Given the description of an element on the screen output the (x, y) to click on. 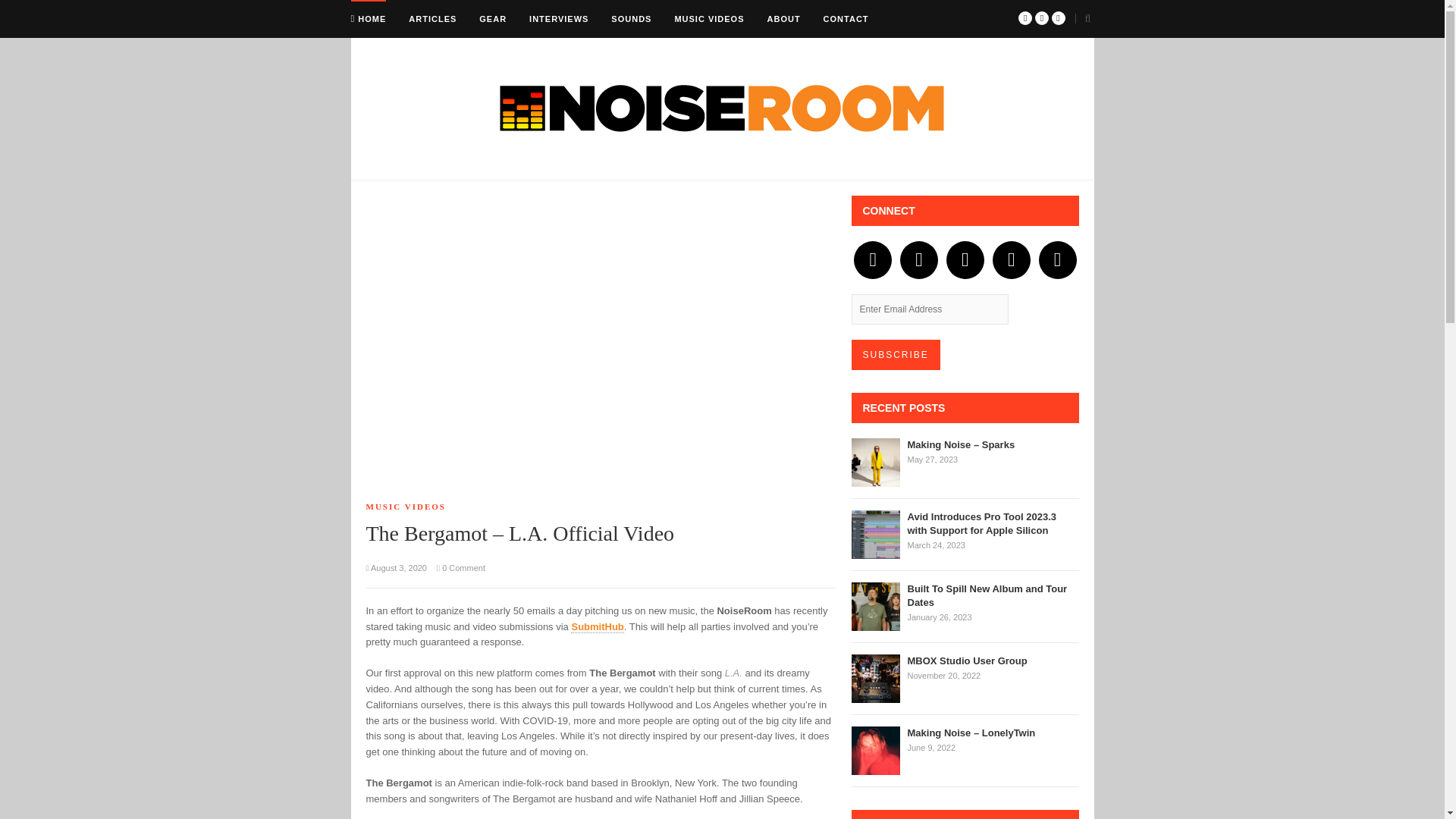
Subscribe (894, 354)
CONTACT (846, 18)
MUSIC VIDEOS (405, 506)
INTERVIEWS (558, 18)
SOUNDS (630, 18)
HOME (367, 18)
MUSIC VIDEOS (709, 18)
SubmitHub (596, 626)
ARTICLES (433, 18)
0 Comment (460, 567)
